Given the description of an element on the screen output the (x, y) to click on. 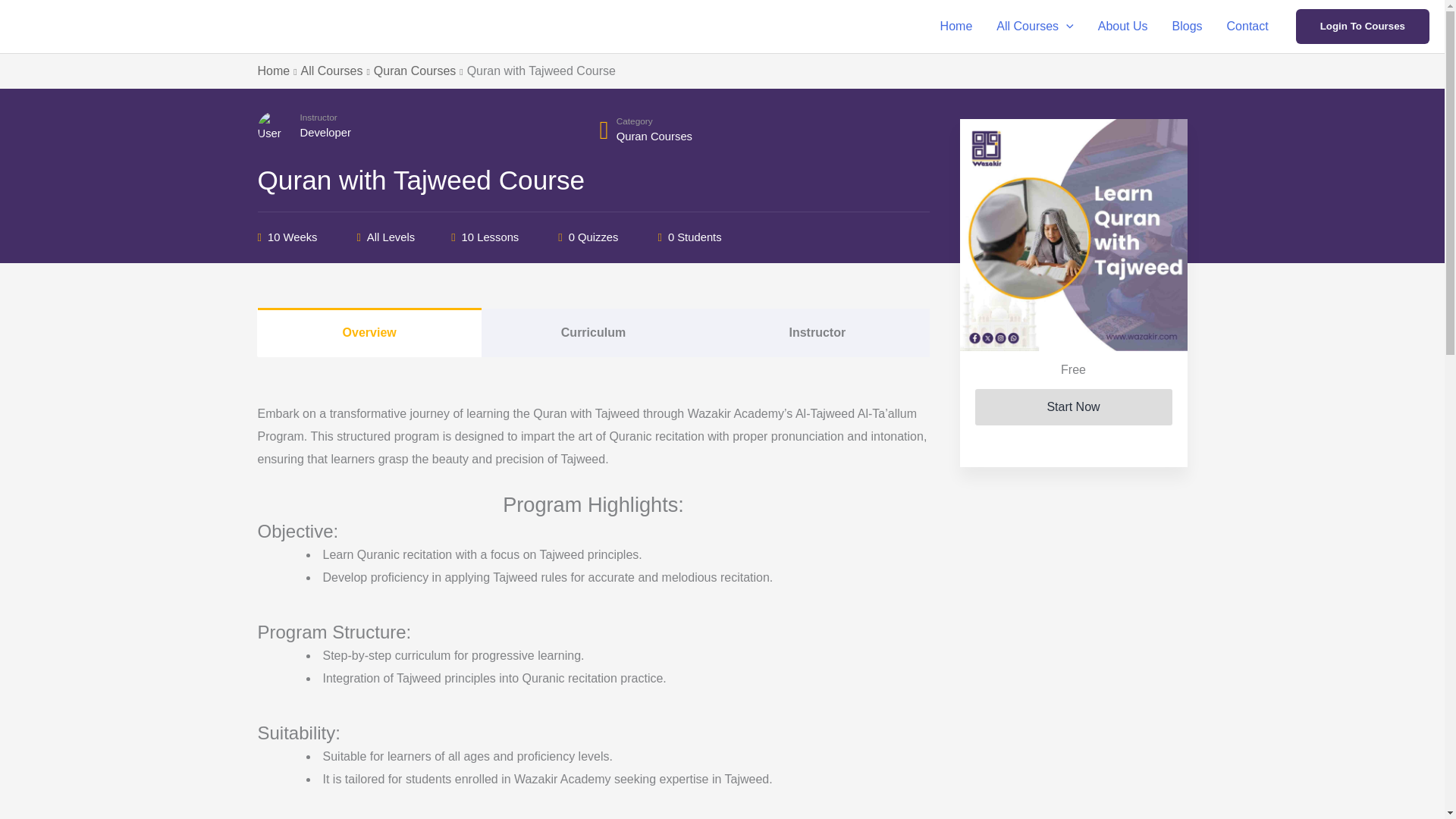
Login To Courses (1362, 26)
Contact (1247, 26)
All Courses (1034, 26)
Blogs (1187, 26)
About Us (1123, 26)
Quran with Tajweed Course (1073, 234)
Home (956, 26)
